Given the description of an element on the screen output the (x, y) to click on. 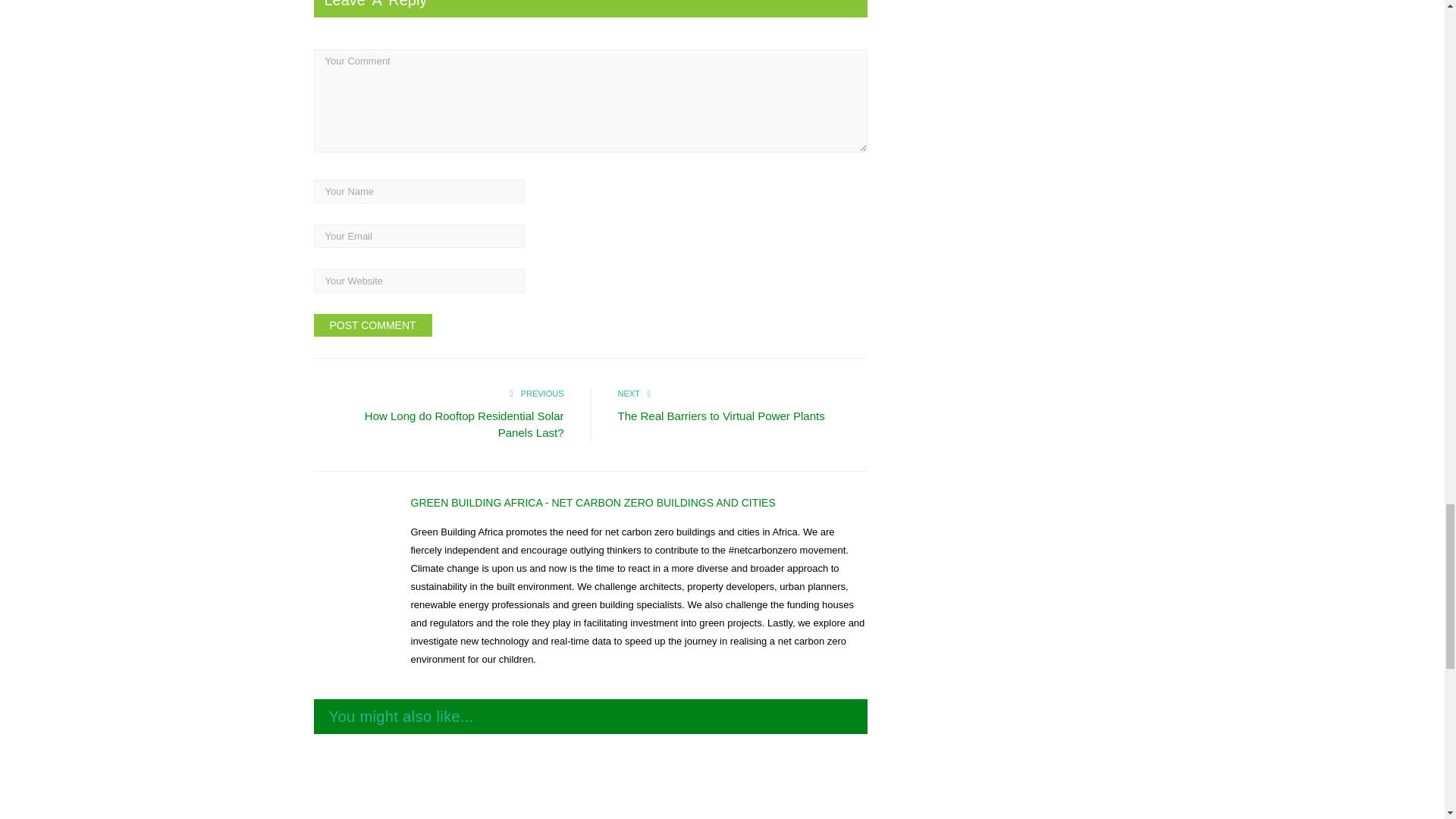
Post Comment (373, 324)
